Given the description of an element on the screen output the (x, y) to click on. 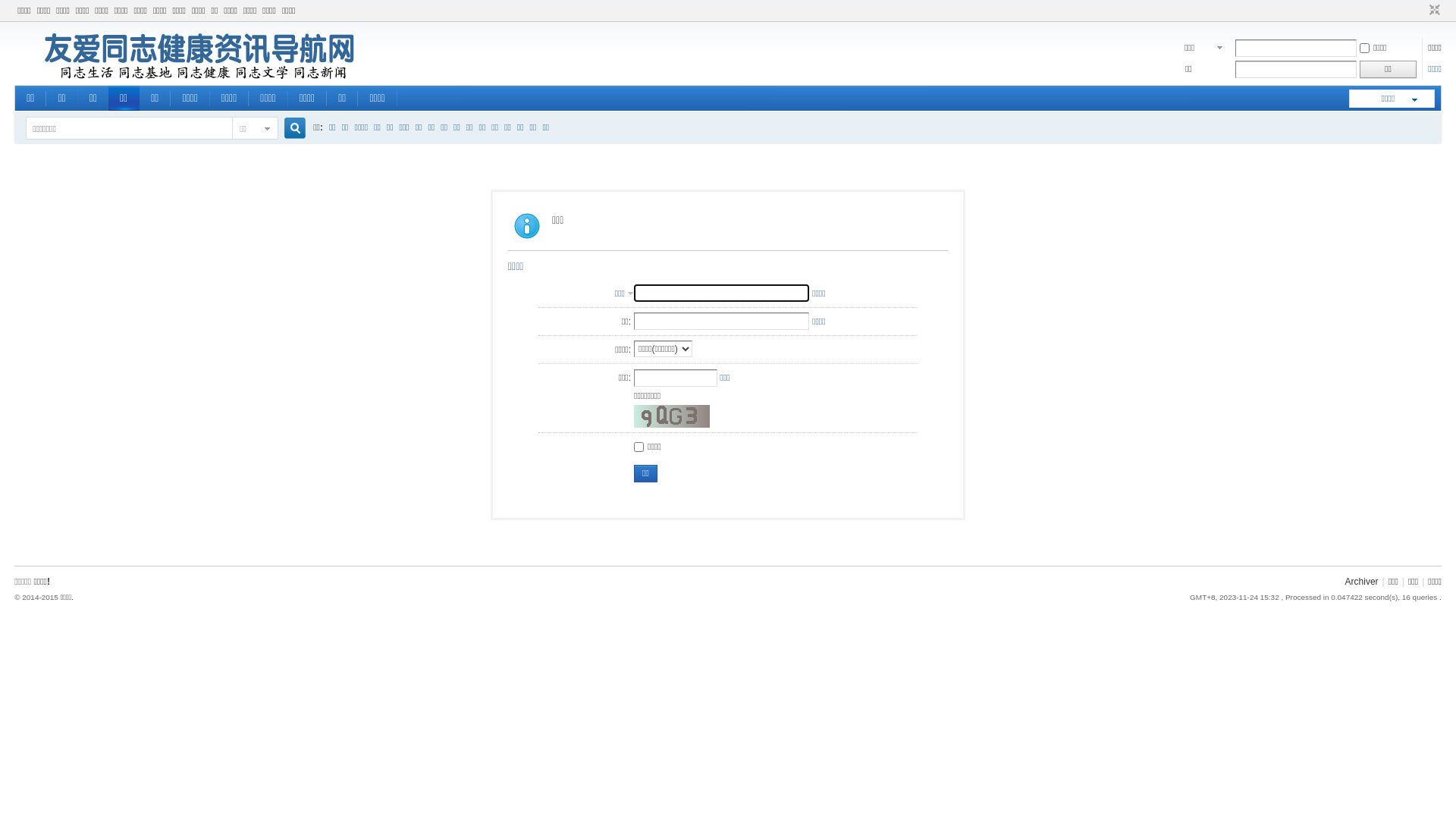
true Element type: text (289, 128)
Archiver Element type: text (1361, 581)
